Given the description of an element on the screen output the (x, y) to click on. 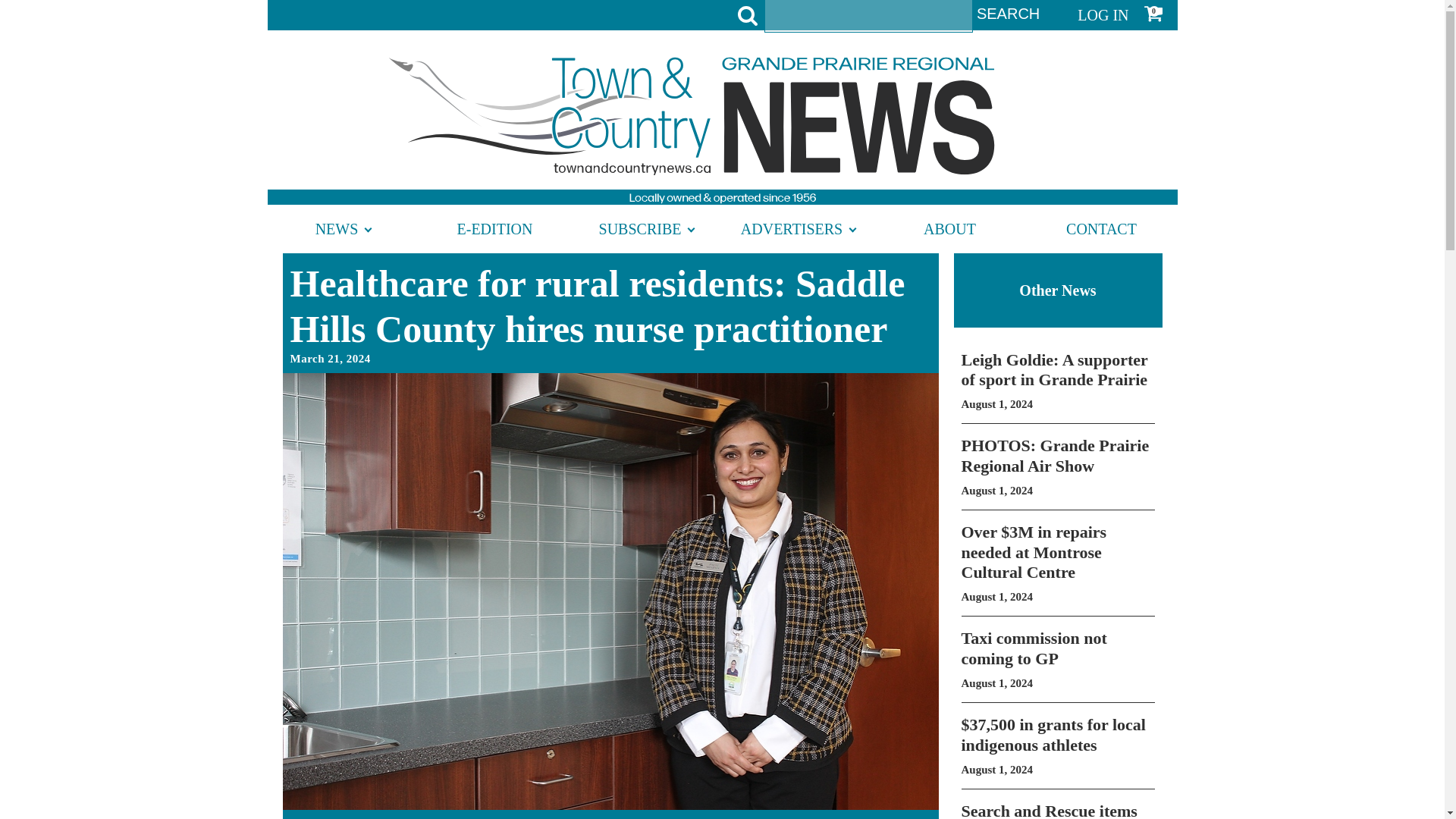
Search (1007, 13)
CONTACT (1057, 659)
LOG IN (1100, 228)
ADVERTISERS (1057, 466)
SUBSCRIBE (1102, 14)
NEWS (797, 228)
ABOUT (646, 228)
E-EDITION (342, 228)
Search (1057, 810)
